Given the description of an element on the screen output the (x, y) to click on. 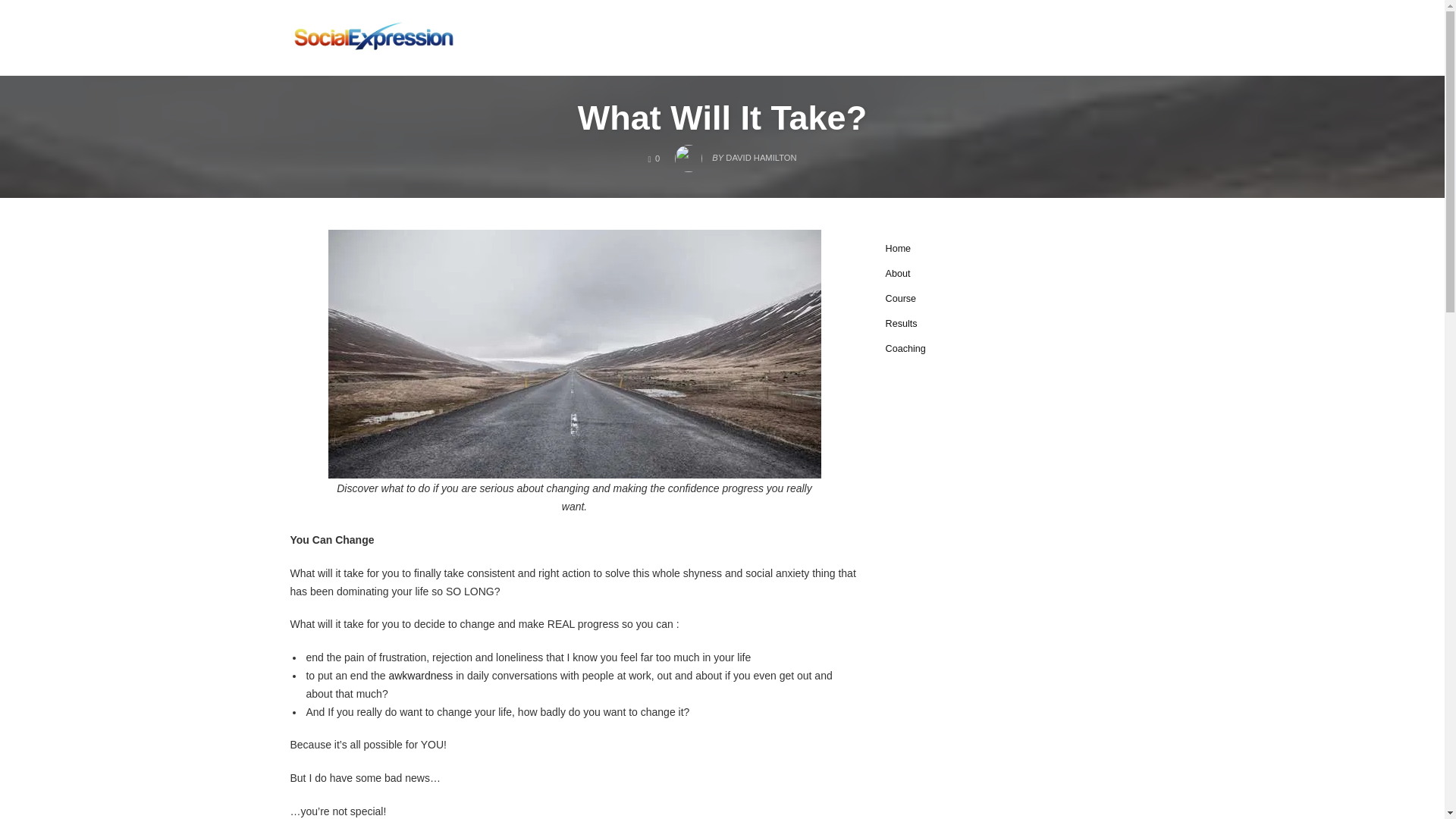
Coaching (905, 348)
About (653, 157)
Course (898, 273)
awkwardness (901, 298)
Results (420, 675)
Home (901, 323)
Social Expression (898, 248)
BY DAVID HAMILTON (373, 37)
What Will It Take? (735, 153)
